Given the description of an element on the screen output the (x, y) to click on. 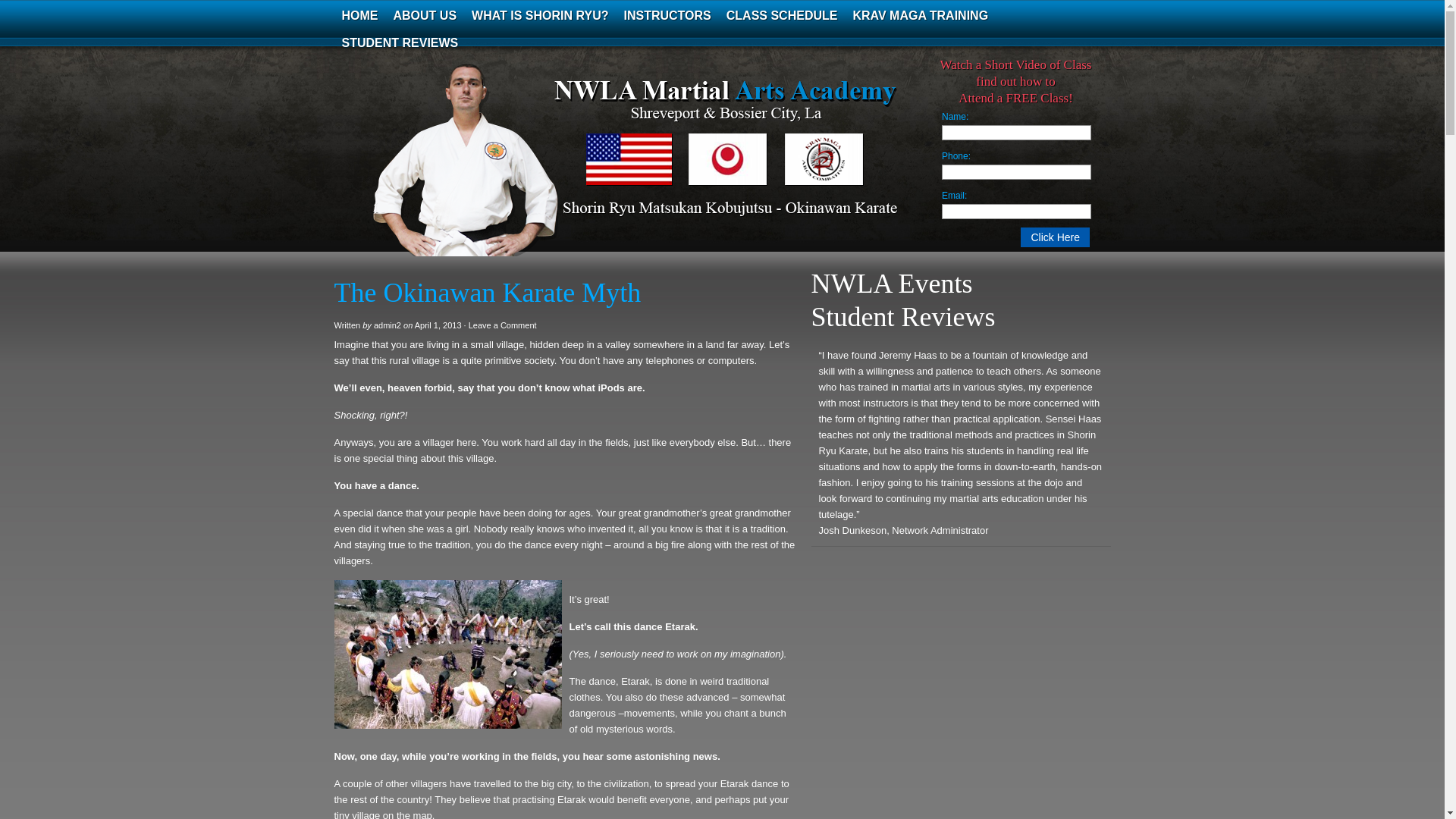
CLASS SCHEDULE (782, 15)
STUDENT REVIEWS (399, 42)
Okinawan Karate001 (446, 653)
admin2 (387, 325)
INSTRUCTORS (666, 15)
Click Here (1054, 237)
NWLA Martial Arts (485, 169)
2013-04-01T15:01:45-0600 (437, 325)
WHAT IS SHORIN RYU? (539, 15)
Click Here (1054, 237)
HOME (359, 15)
Leave a Comment (502, 325)
ABOUT US (424, 15)
NWLA Martial Arts (485, 169)
KRAV MAGA TRAINING (919, 15)
